Given the description of an element on the screen output the (x, y) to click on. 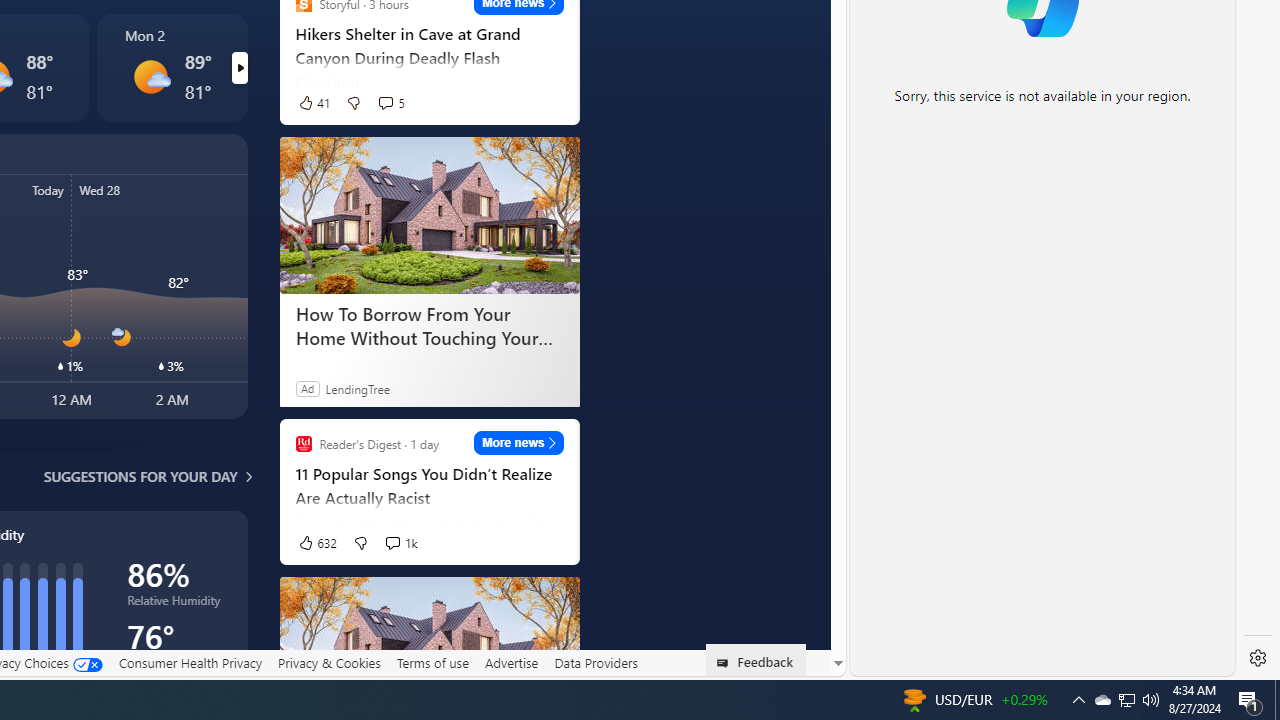
Switch right (239, 67)
Relative Humidity (176, 603)
Class: feedback_link_icon-DS-EntryPoint1-1 (726, 663)
More news (518, 443)
Suggestions for your day (140, 476)
Data Providers (595, 663)
Data Providers (595, 662)
Mostly sunny (150, 76)
